Given the description of an element on the screen output the (x, y) to click on. 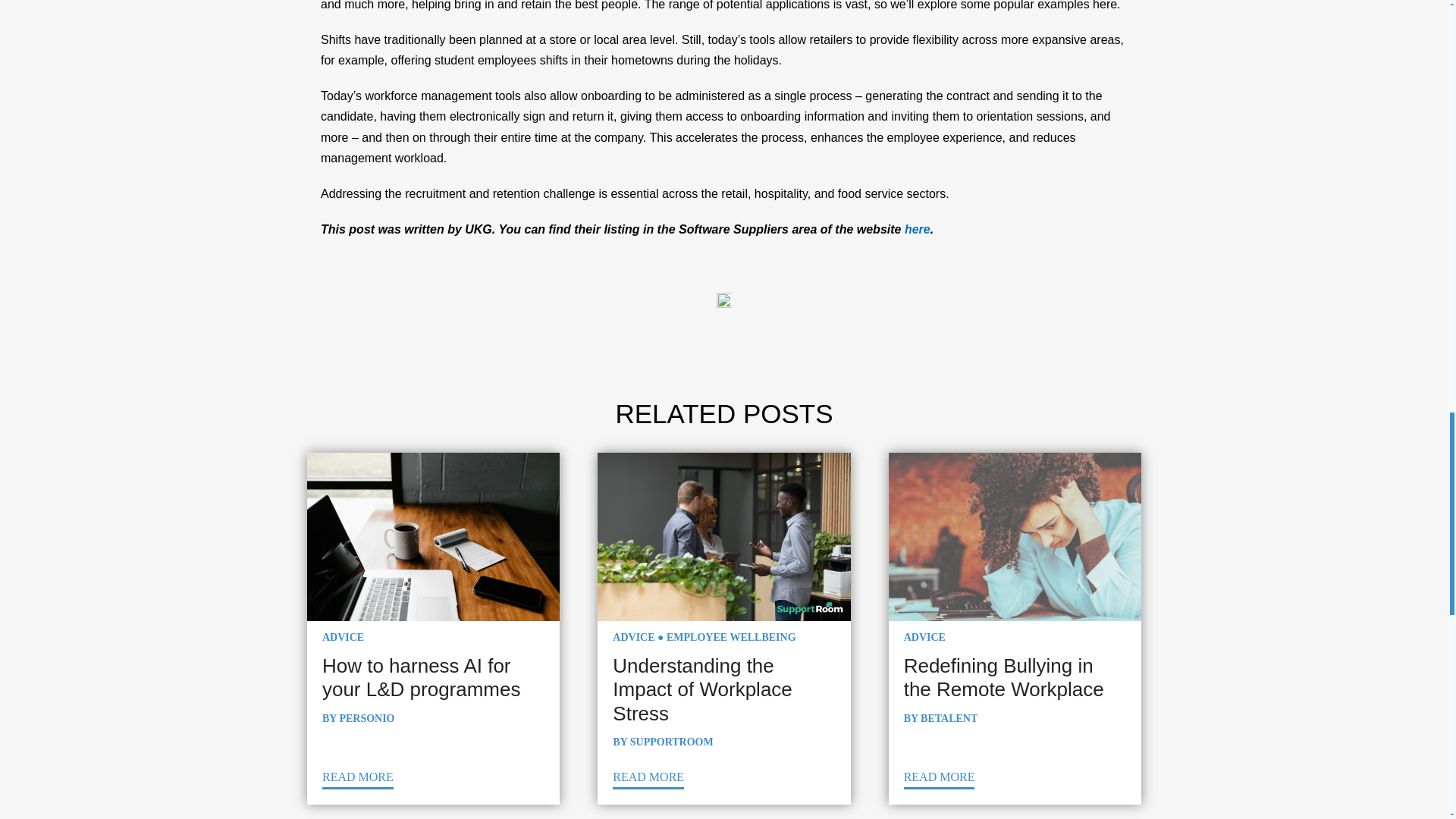
ADVICE (342, 636)
Employee Wellbeing (731, 636)
Advice (342, 636)
Advice (924, 636)
BY PERSONIO (357, 717)
here (917, 228)
Advice (632, 636)
